Given the description of an element on the screen output the (x, y) to click on. 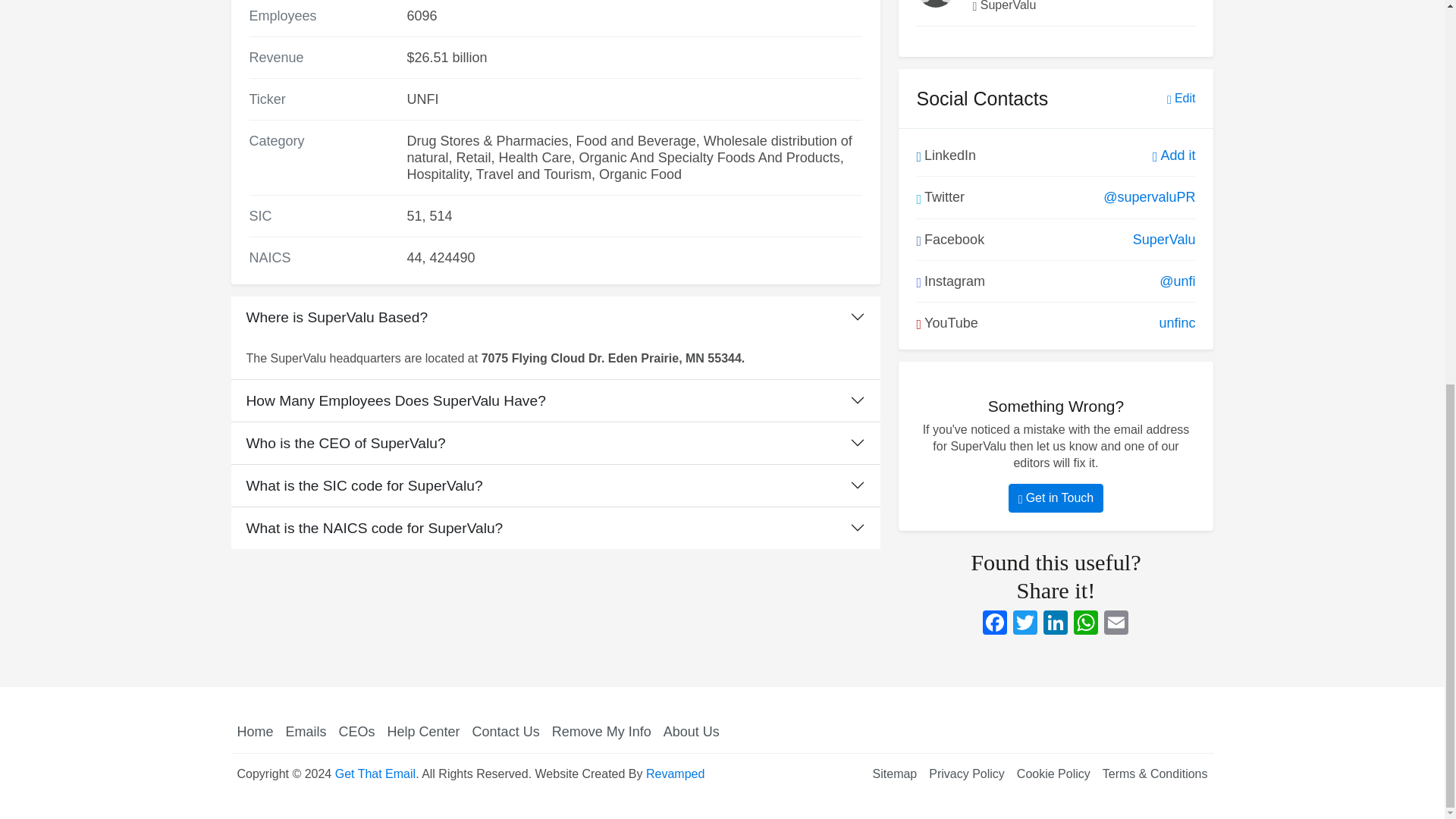
Twitter (1025, 624)
WhatsApp (1085, 624)
LinkedIn (1055, 624)
How Many Employees Does SuperValu Have? (554, 400)
Where is SuperValu Based? (554, 317)
What is the SIC code for SuperValu? (554, 485)
Who is the CEO of SuperValu? (554, 443)
Facebook (994, 624)
What is the NAICS code for SuperValu? (554, 527)
Email (1115, 624)
